Given the description of an element on the screen output the (x, y) to click on. 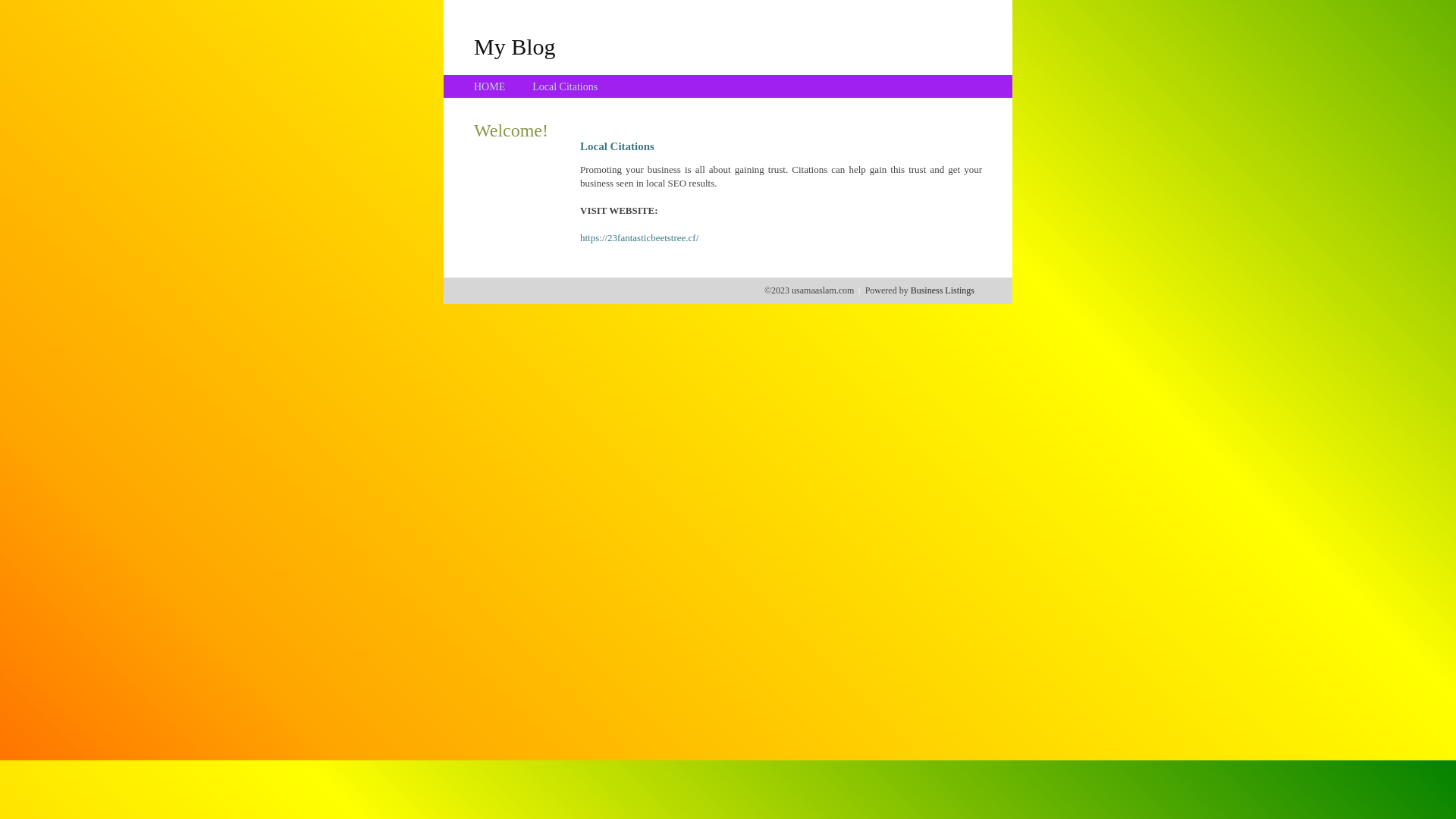
https://23fantasticbeetstree.cf/ Element type: text (639, 237)
HOME Element type: text (489, 86)
Business Listings Element type: text (942, 290)
Local Citations Element type: text (564, 86)
My Blog Element type: text (514, 46)
